Given the description of an element on the screen output the (x, y) to click on. 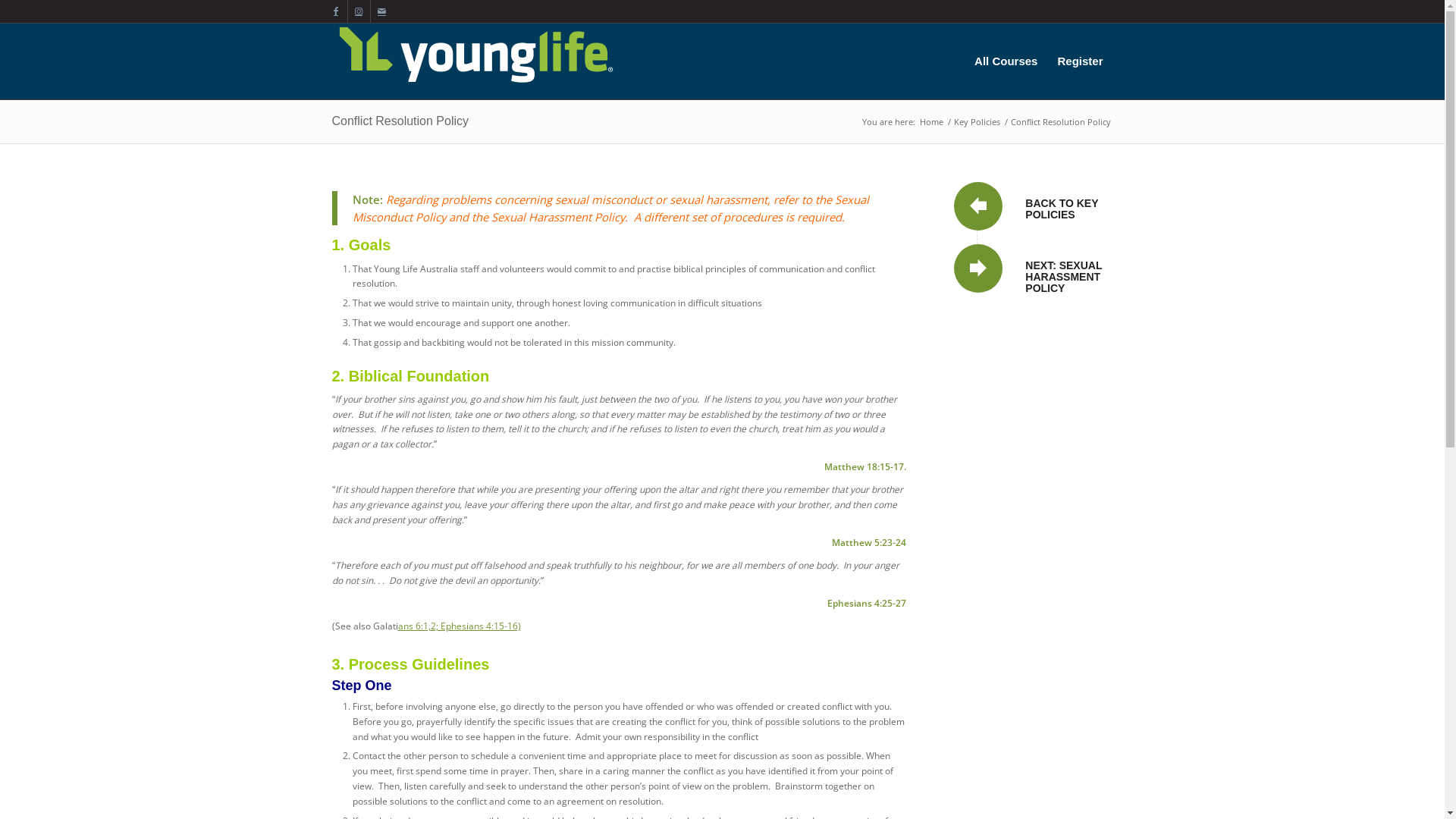
Key Policies Element type: text (975, 121)
All Courses Element type: text (1005, 61)
Register Element type: text (1079, 61)
Home Element type: text (931, 121)
Instagram Element type: hover (358, 11)
BACK TO KEY POLICIES Element type: text (1061, 208)
Facebook Element type: hover (335, 11)
Conflict Resolution Policy Element type: text (400, 120)
Mail Element type: hover (381, 11)
ans 6:1,2; Ephesians 4:15-16) Element type: text (458, 624)
NEXT: SEXUAL HARASSMENT POLICY Element type: text (1063, 276)
